Given the description of an element on the screen output the (x, y) to click on. 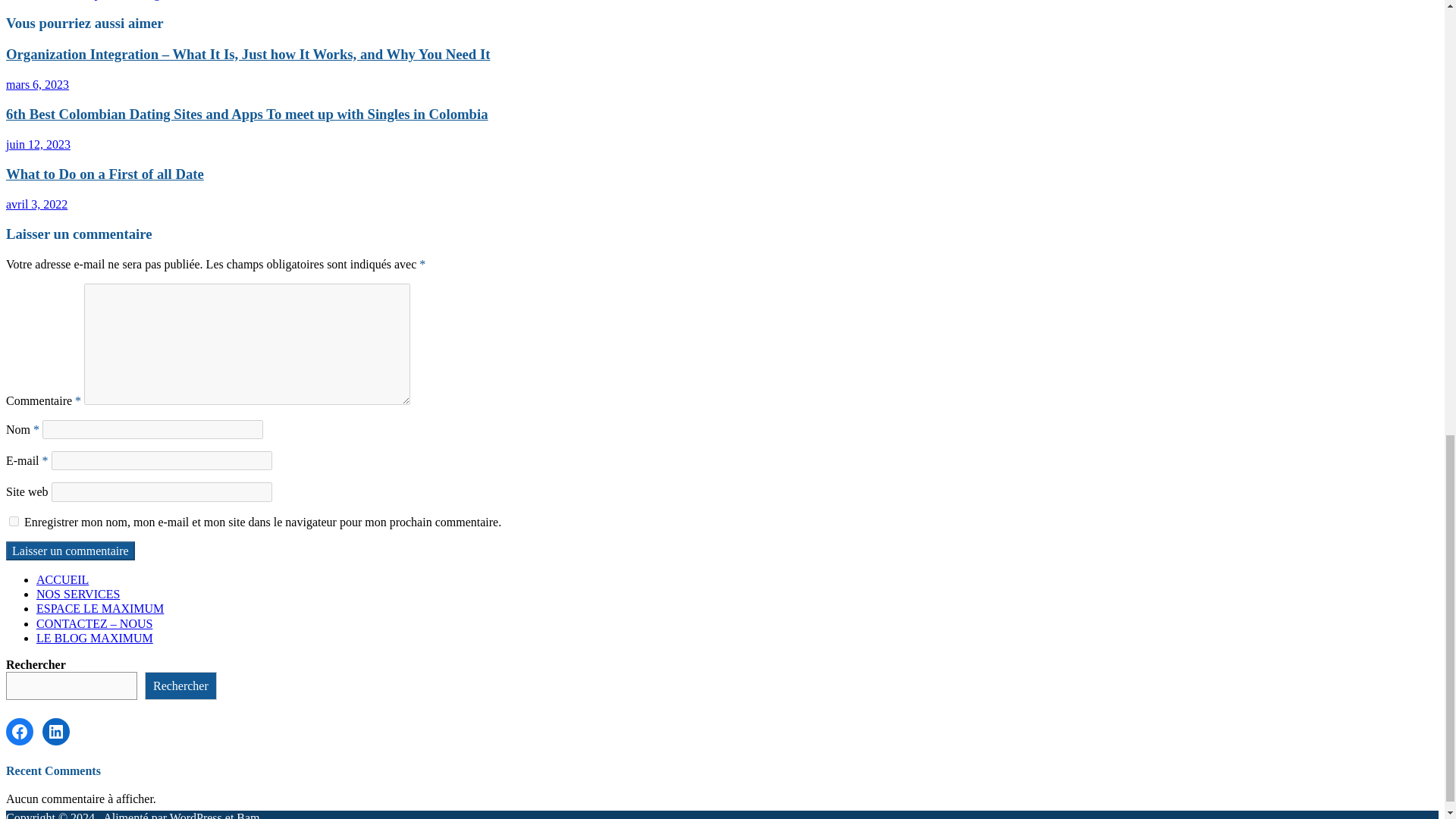
ESPACE LE MAXIMUM (99, 608)
mars 6, 2023 (36, 83)
What to Do on a First of all Date (104, 173)
NOS SERVICES (77, 594)
What to Do on a First of all Date (104, 173)
avril 3, 2022 (35, 204)
ACCUEIL (62, 579)
Facebook (19, 731)
LE BLOG MAXIMUM (94, 637)
